Given the description of an element on the screen output the (x, y) to click on. 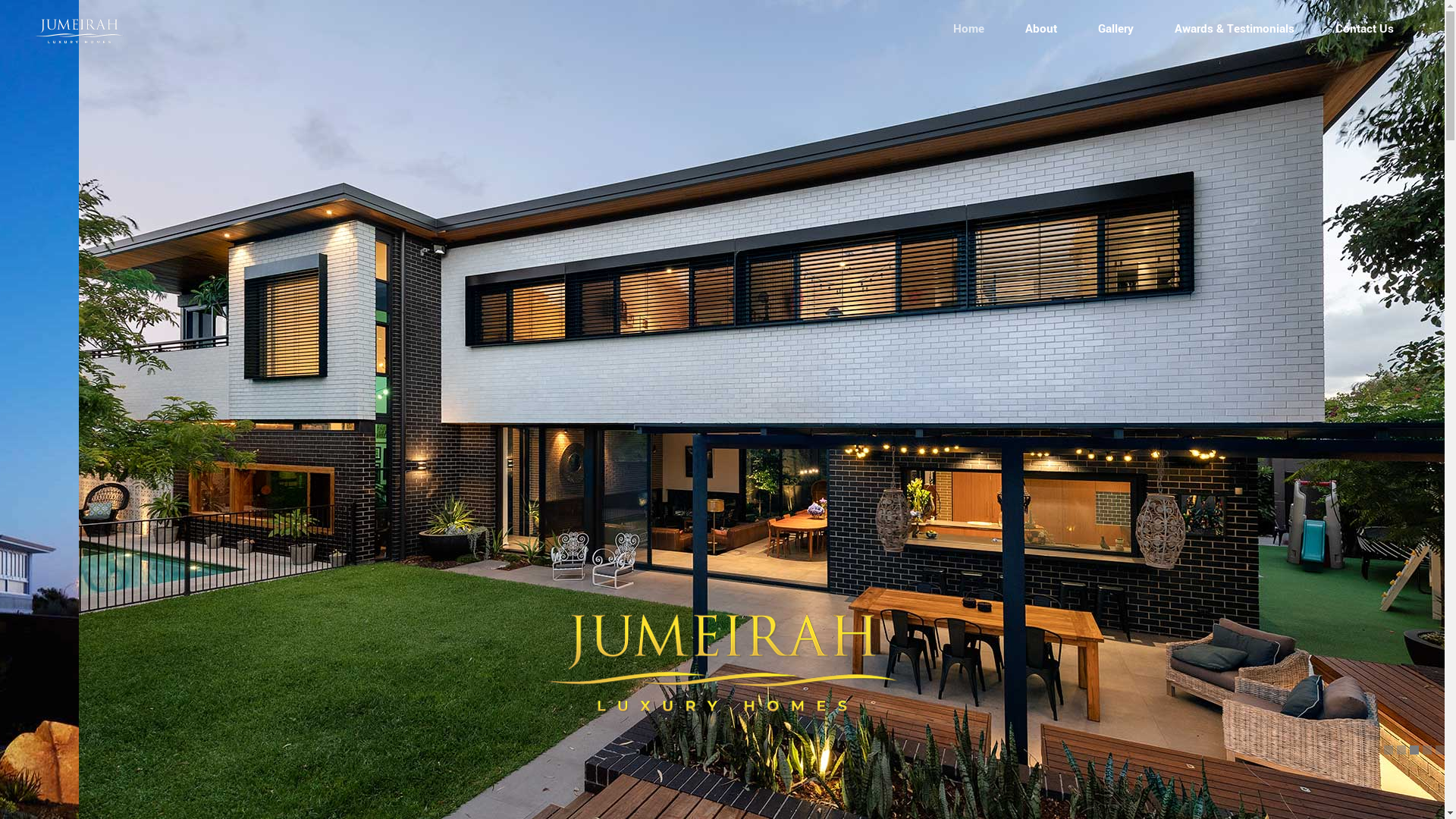
Home Element type: text (968, 28)
About Element type: text (1040, 28)
Gallery Element type: text (1115, 28)
Contact Us Element type: text (1364, 28)
Awards & Testimonials Element type: text (1234, 28)
